Given the description of an element on the screen output the (x, y) to click on. 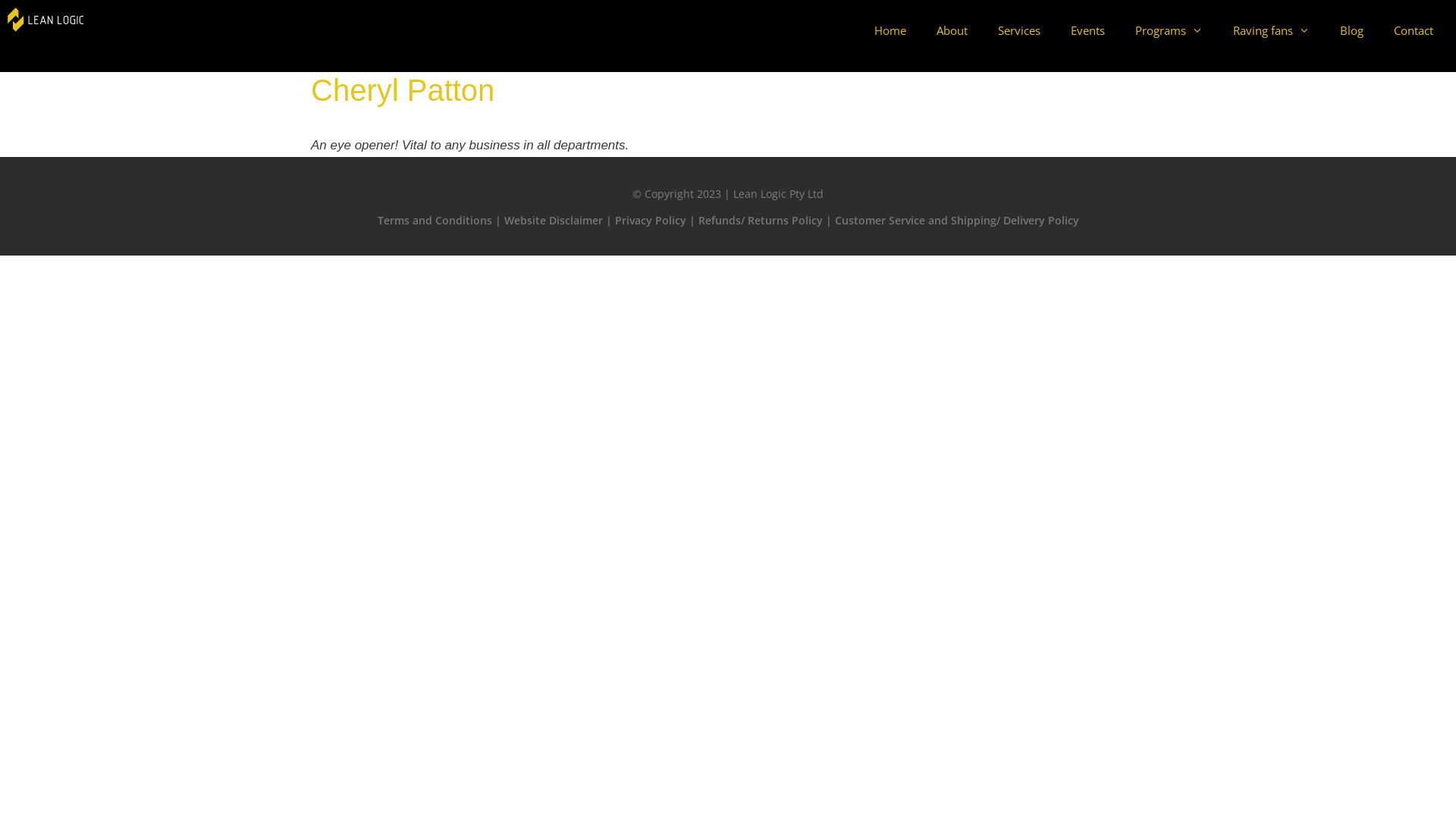
Raving fans Element type: text (1270, 30)
Website Disclaimer Element type: text (552, 220)
Programs Element type: text (1168, 30)
Services Element type: text (1018, 30)
Events Element type: text (1087, 30)
Privacy Policy Element type: text (649, 220)
Customer Service and Shipping/ Delivery Policy Element type: text (956, 220)
Lean Logic Element type: hover (45, 19)
About Element type: text (951, 30)
Contact Element type: text (1413, 30)
Lean Logic Element type: hover (45, 18)
Home Element type: text (890, 30)
Refunds/ Returns Policy Element type: text (759, 220)
Terms and Conditions Element type: text (434, 220)
Blog Element type: text (1351, 30)
